Given the description of an element on the screen output the (x, y) to click on. 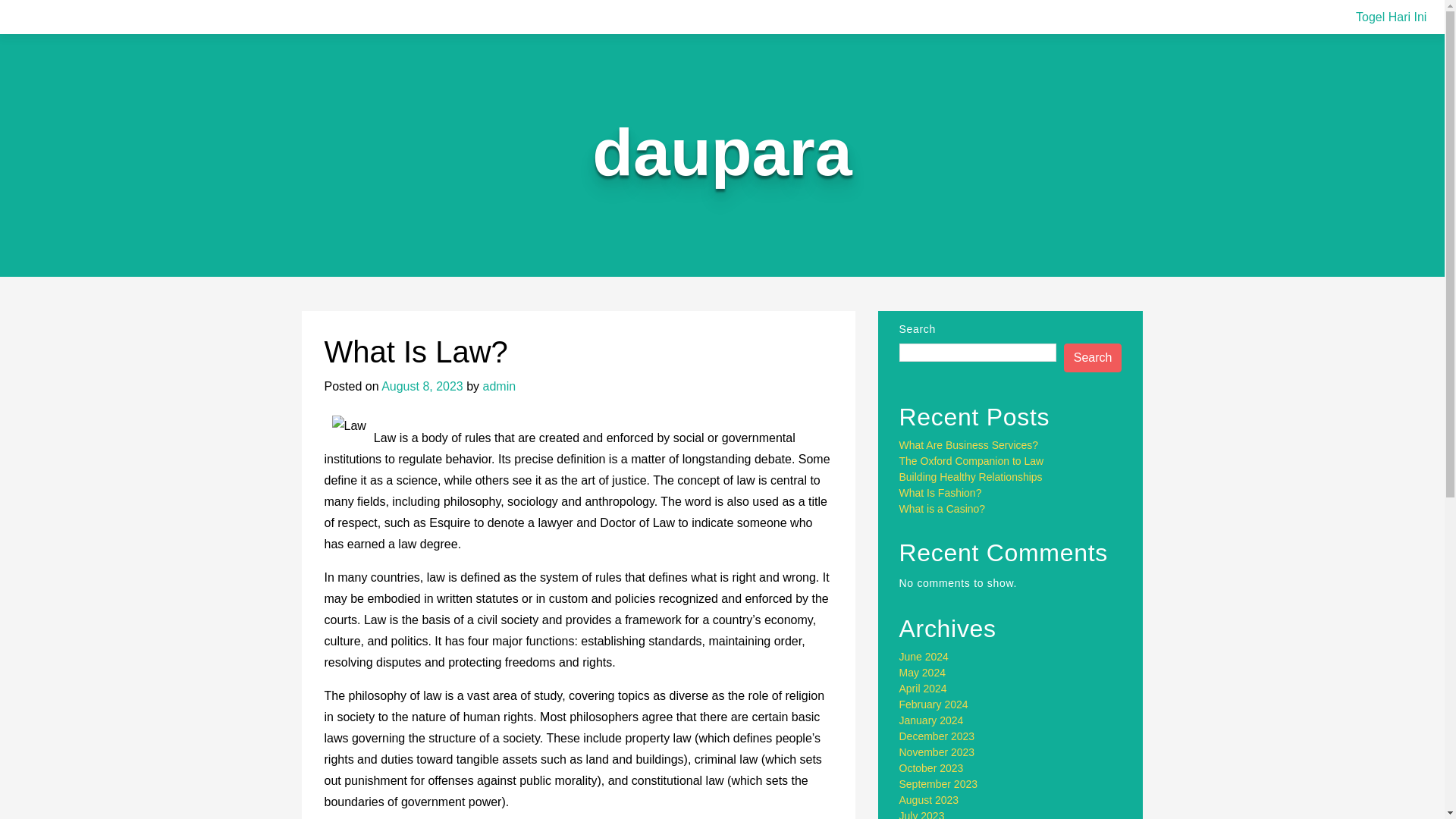
September 2023 (938, 784)
December 2023 (937, 736)
Togel Hari Ini (1390, 16)
August 2023 (929, 799)
admin (499, 386)
What Is Fashion? (940, 492)
August 8, 2023 (422, 386)
October 2023 (931, 767)
January 2024 (931, 720)
November 2023 (937, 752)
